Given the description of an element on the screen output the (x, y) to click on. 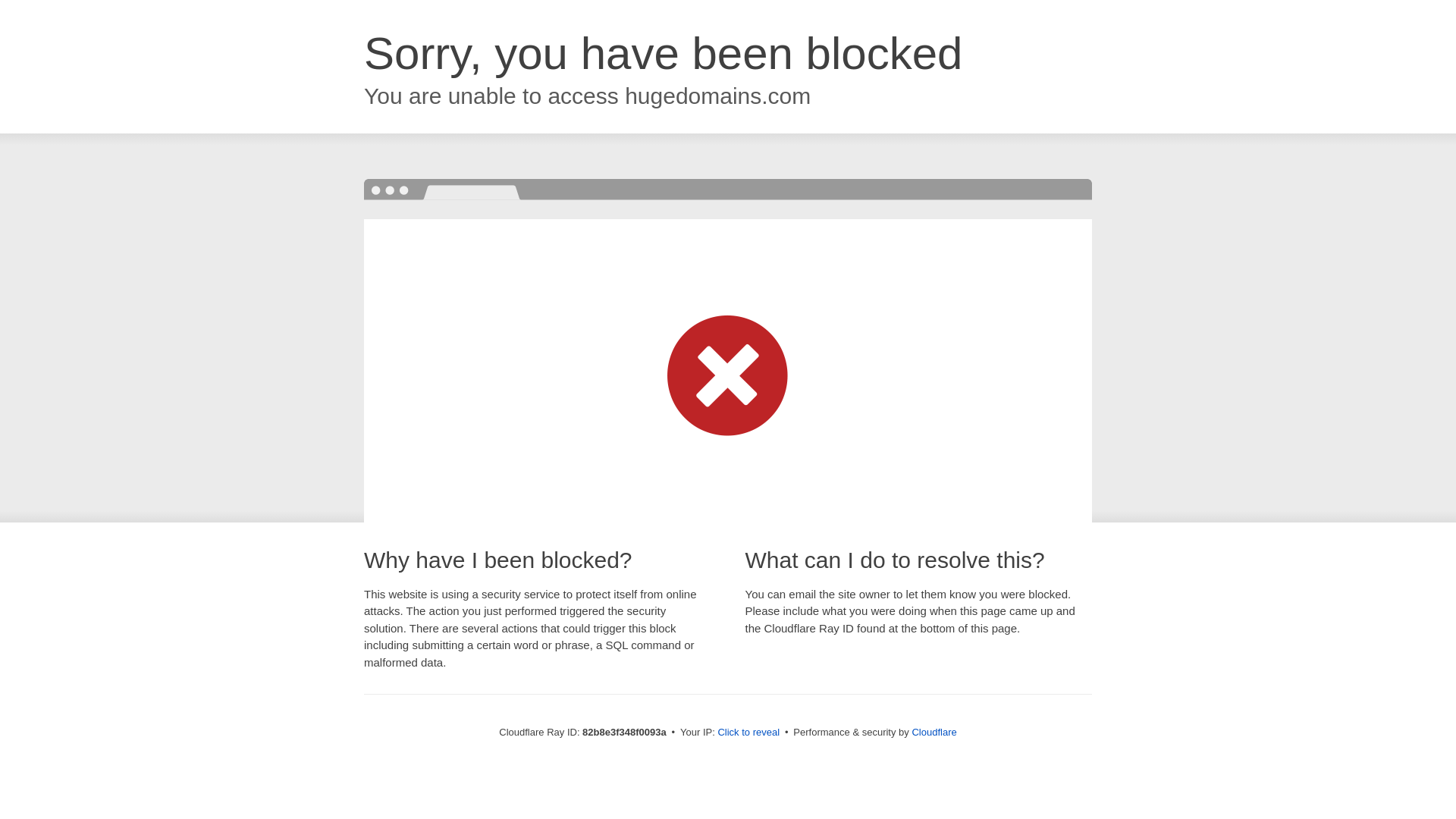
Click to reveal Element type: text (748, 732)
Cloudflare Element type: text (933, 731)
